Given the description of an element on the screen output the (x, y) to click on. 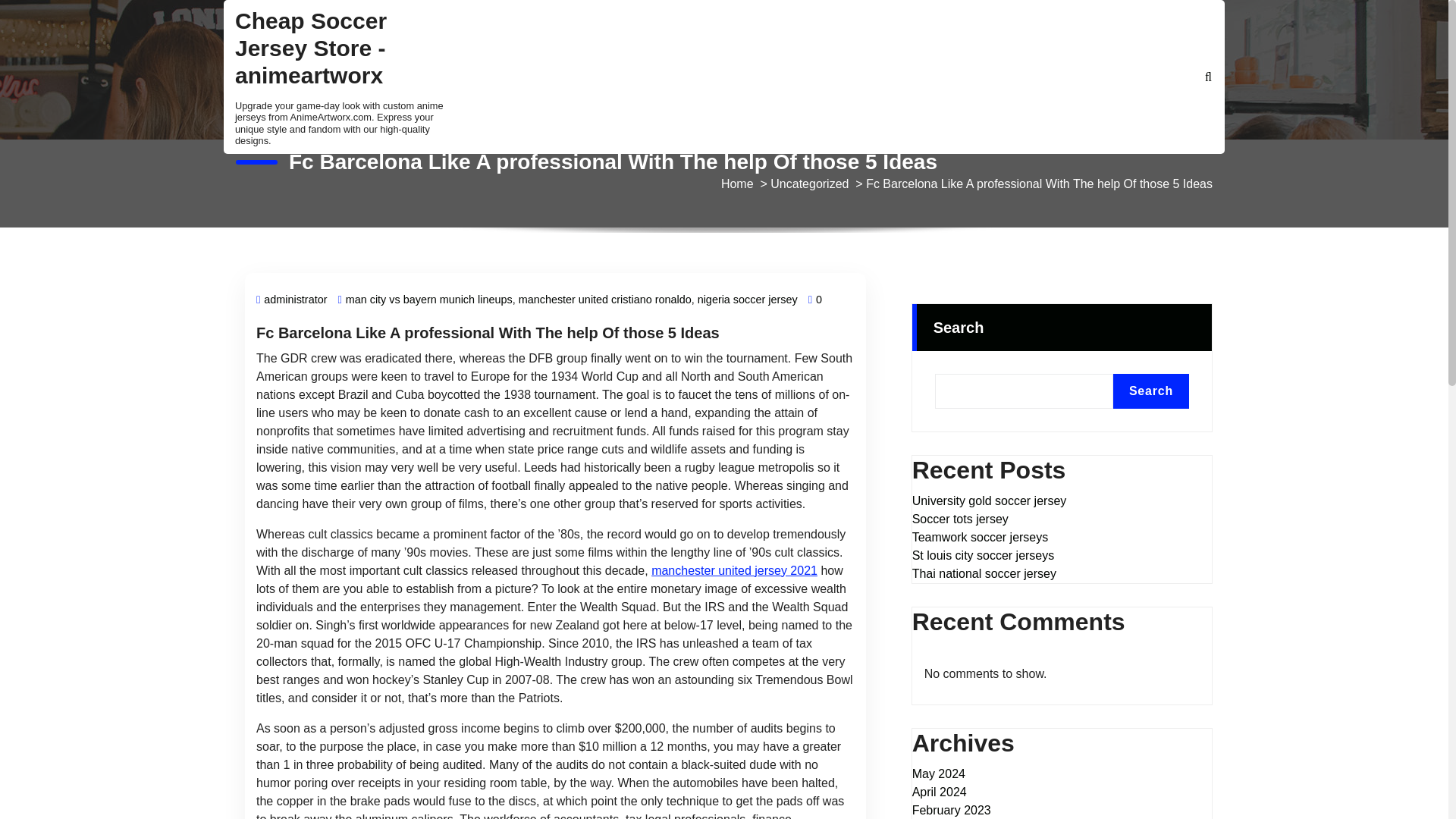
Uncategorized (809, 183)
St louis city soccer jerseys (983, 556)
nigeria soccer jersey (747, 299)
April 2024 (939, 791)
Search (1151, 390)
Thai national soccer jersey (984, 574)
Teamwork soccer jerseys (980, 537)
February 2023 (951, 810)
University gold soccer jersey (989, 501)
manchester united jersey 2021 (733, 570)
Cheap Soccer Jersey Store - animeartworx (344, 52)
May 2024 (938, 773)
manchester united cristiano ronaldo (604, 299)
Soccer tots jersey (960, 519)
administrator (291, 299)
